Given the description of an element on the screen output the (x, y) to click on. 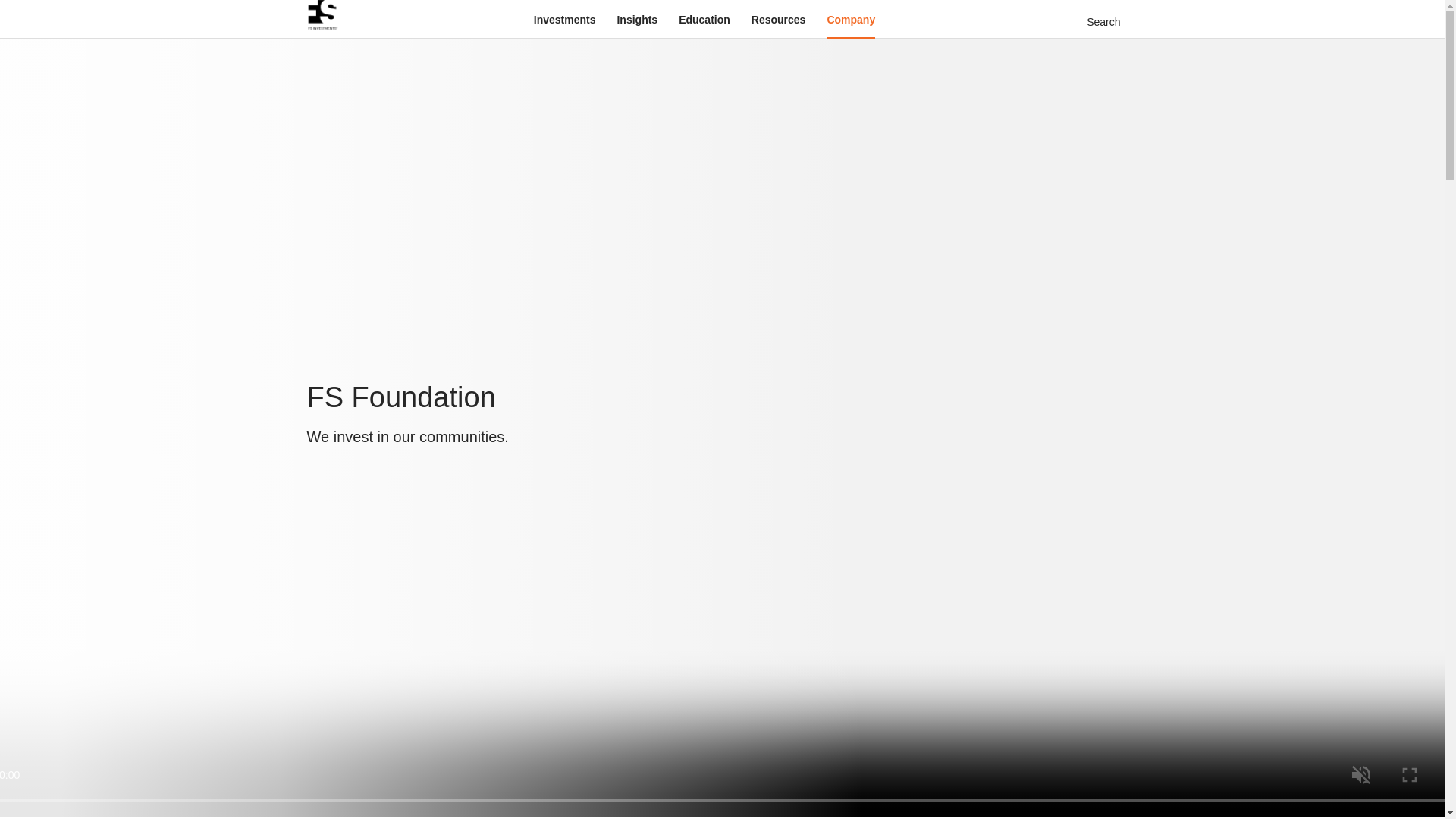
Insights (636, 19)
Investments (564, 19)
Education (704, 19)
